Given the description of an element on the screen output the (x, y) to click on. 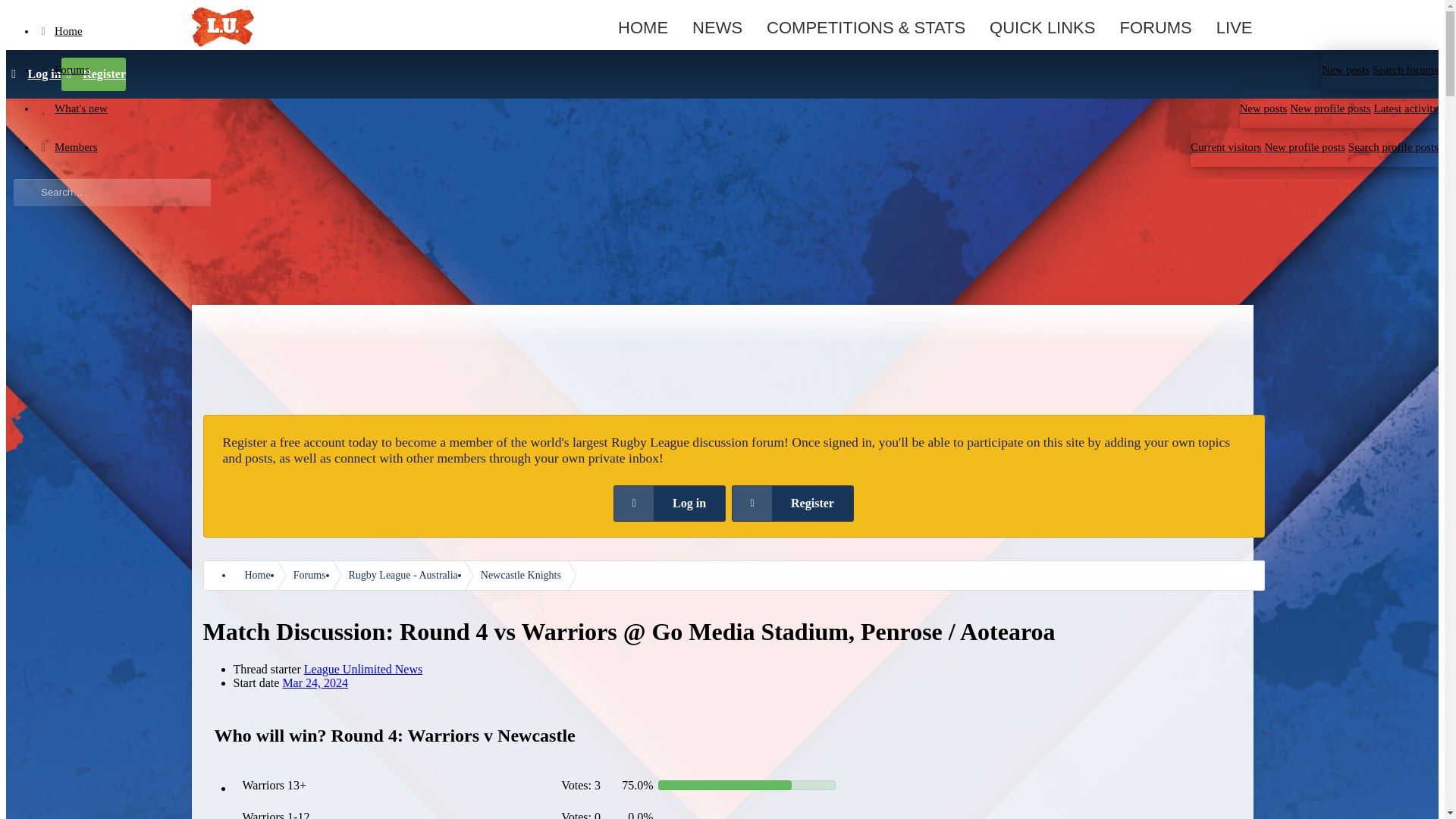
LIVE (1234, 27)
Mar 24, 2024 at 8:11 PM (314, 682)
FORUMS (1155, 27)
HOME (642, 27)
Log in (33, 73)
New posts (1263, 108)
Forums (684, 69)
Register (93, 73)
What's new (642, 108)
New profile posts (1304, 146)
New profile posts (1330, 108)
Members (617, 147)
Current visitors (1226, 146)
New posts (1346, 69)
NEWS (716, 27)
